Given the description of an element on the screen output the (x, y) to click on. 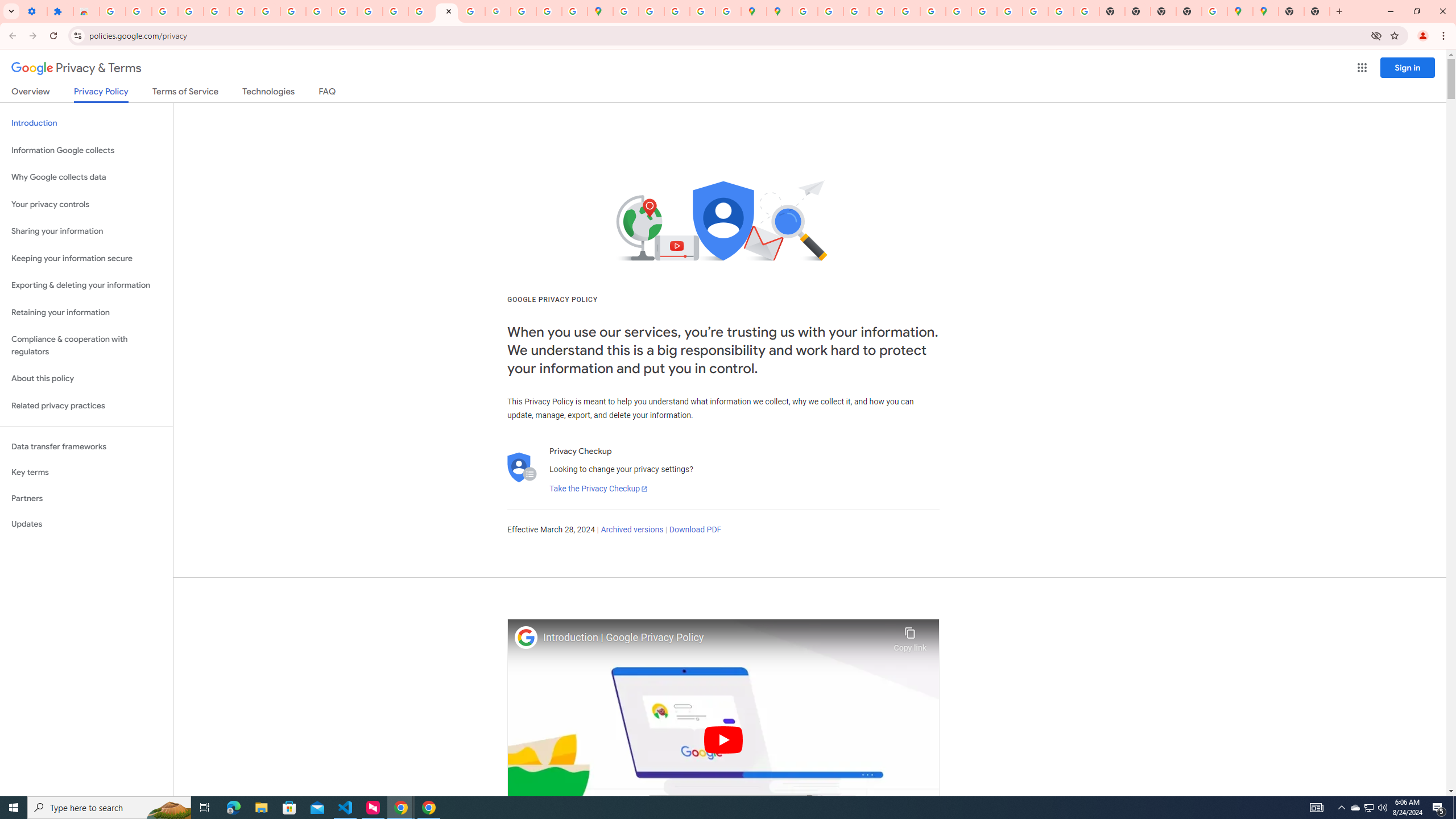
Google Maps (1265, 11)
Google Maps (600, 11)
Privacy Help Center - Policies Help (855, 11)
Partners (86, 497)
YouTube (293, 11)
YouTube (958, 11)
